Given the description of an element on the screen output the (x, y) to click on. 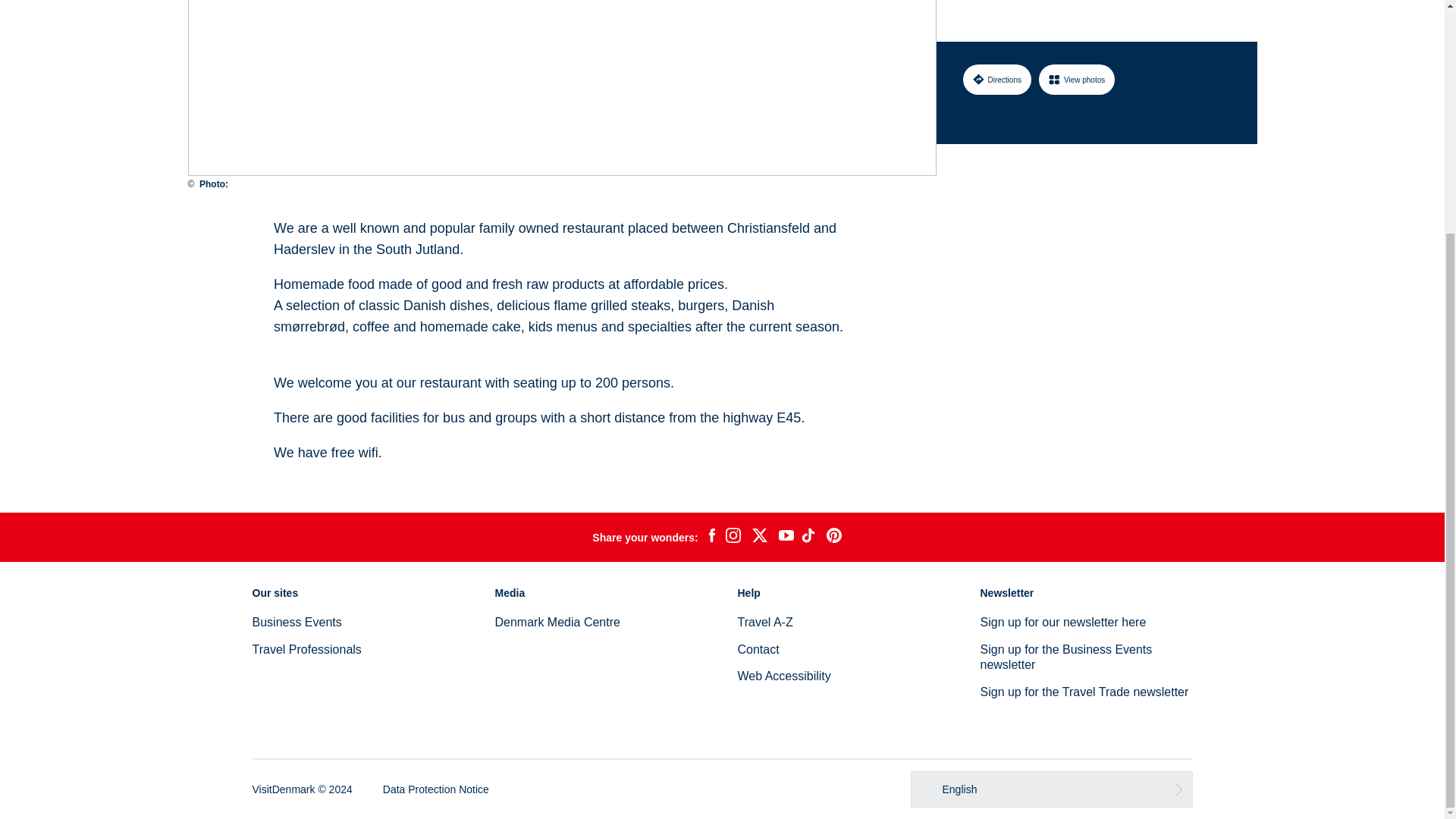
Data Protection Notice (435, 789)
Business Events (295, 621)
Sign up for our newsletter here (1062, 621)
Contact (757, 649)
twitter (759, 537)
Sign up for the Travel Trade newsletter (1083, 691)
Travel A-Z (764, 621)
Web Accessibility (782, 675)
Travel Professionals (306, 649)
Sign up for the Business Events newsletter (1065, 656)
